Given the description of an element on the screen output the (x, y) to click on. 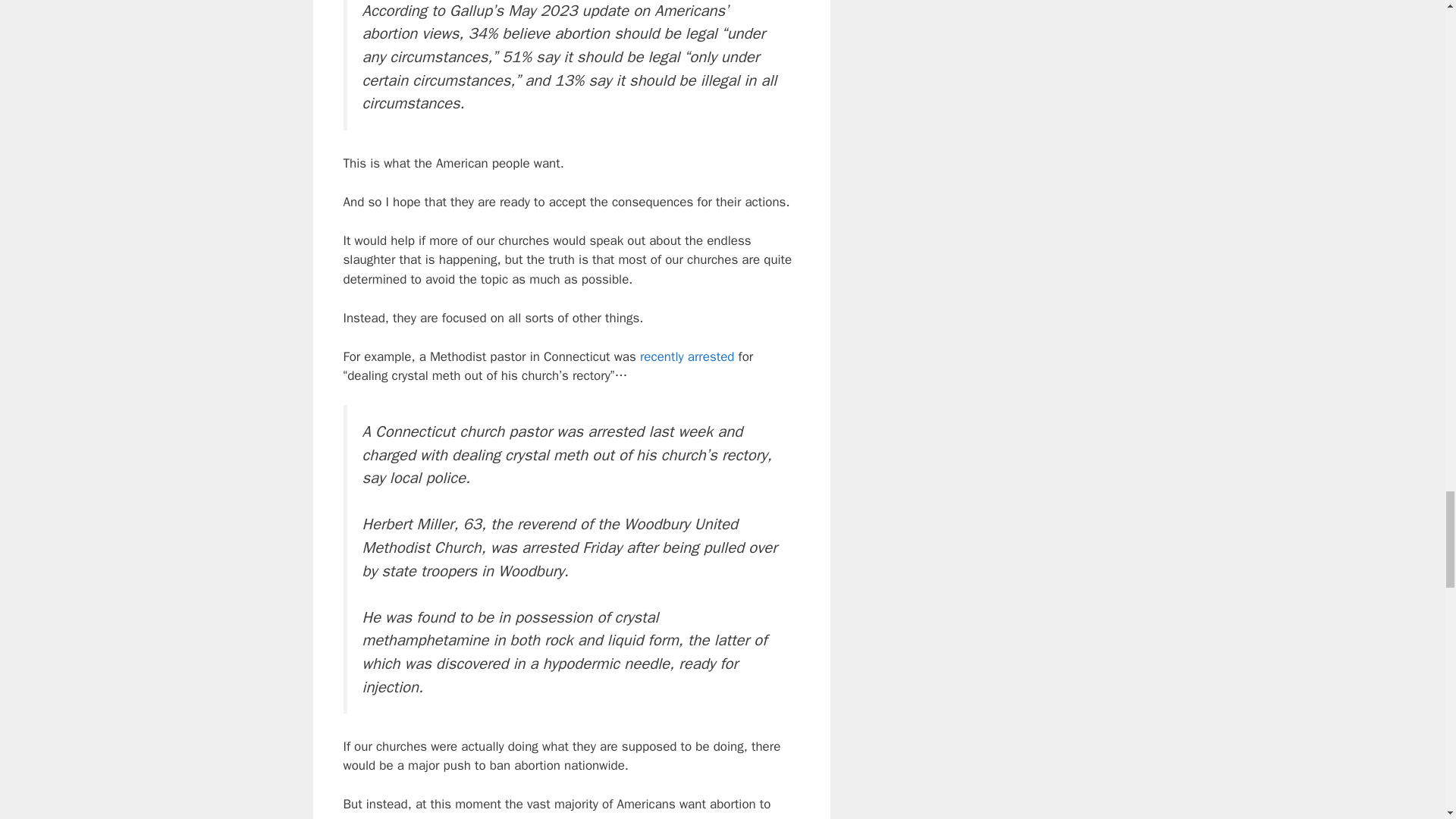
recently arrested (687, 356)
